Given the description of an element on the screen output the (x, y) to click on. 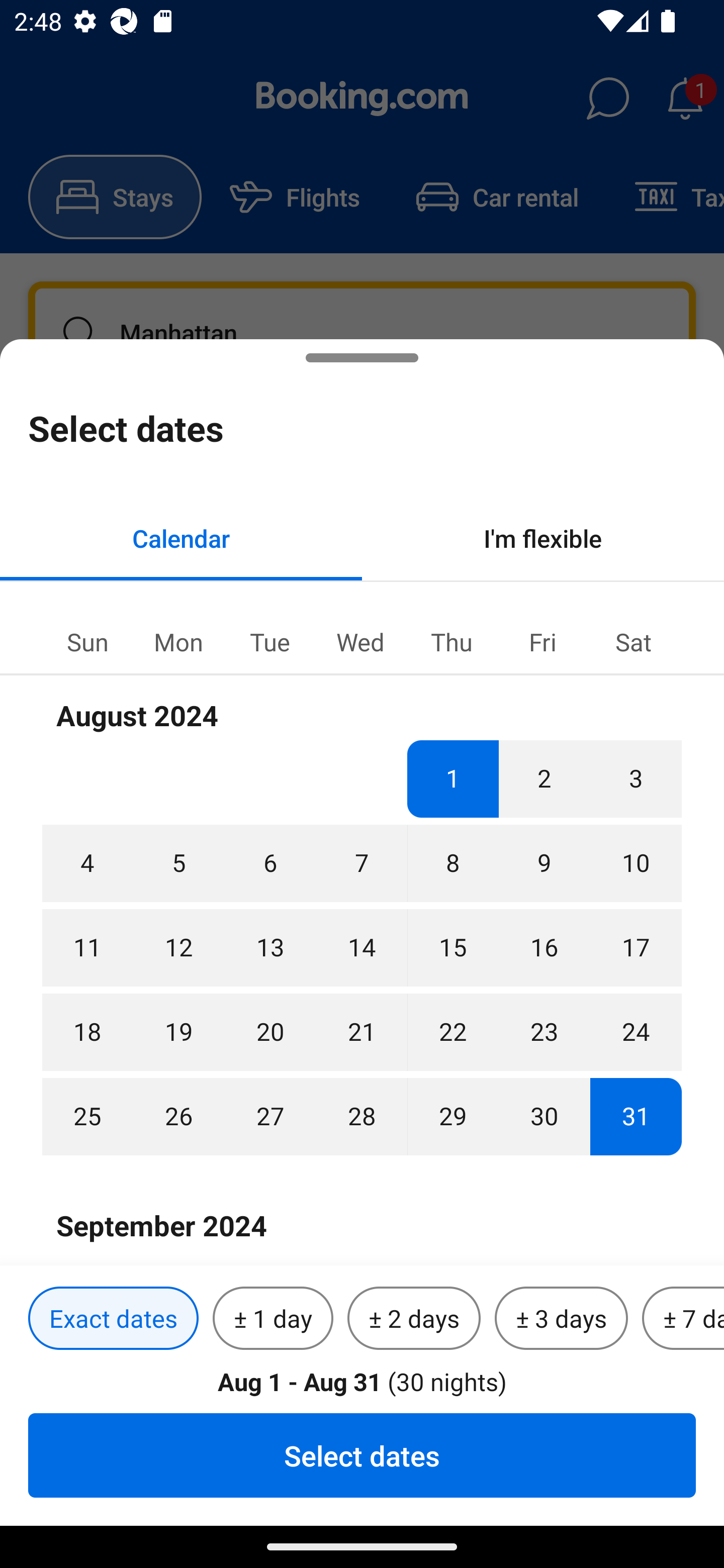
I'm flexible (543, 537)
Exact dates (113, 1318)
± 1 day (272, 1318)
± 2 days (413, 1318)
± 3 days (560, 1318)
± 7 days (683, 1318)
Select dates (361, 1454)
